Given the description of an element on the screen output the (x, y) to click on. 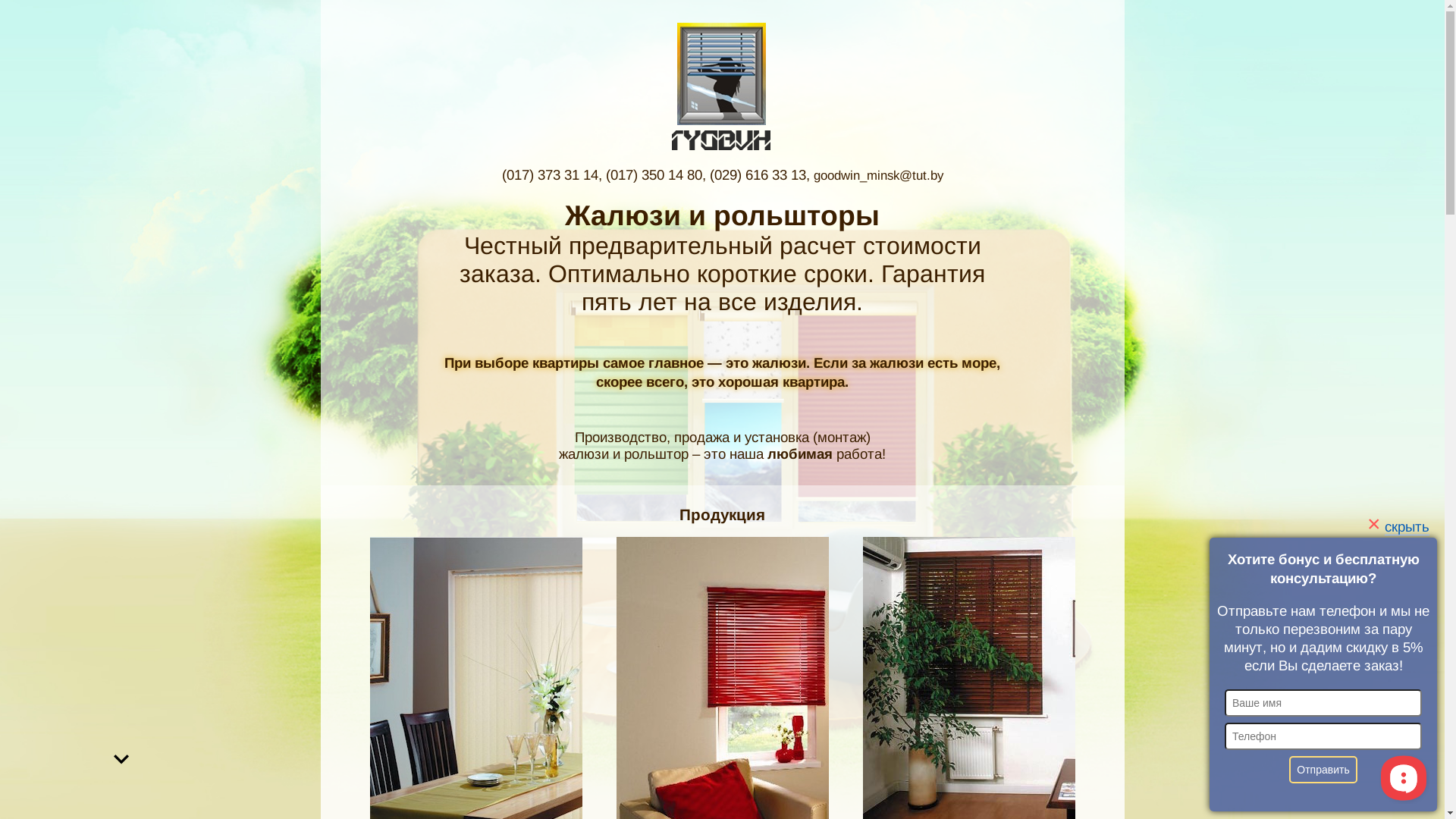
__replain_widget_iframe Element type: hover (1402, 776)
